Given the description of an element on the screen output the (x, y) to click on. 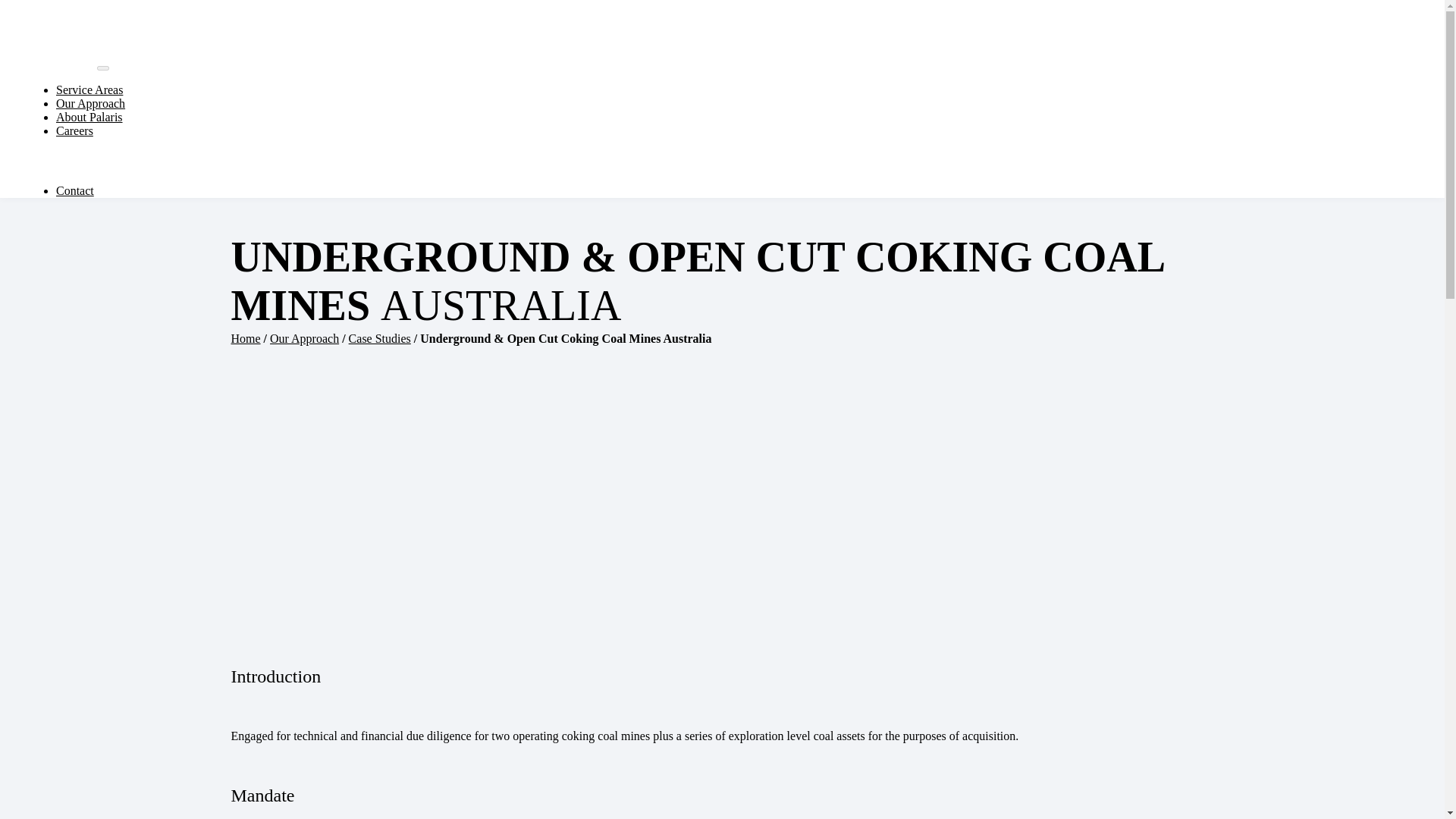
Search (171, 160)
About Palaris (89, 116)
Case Studies (379, 338)
Our Approach (304, 338)
Contact (75, 190)
Careers (74, 130)
Our Approach (90, 103)
Search (171, 160)
Search (171, 160)
Home (245, 338)
